Given the description of an element on the screen output the (x, y) to click on. 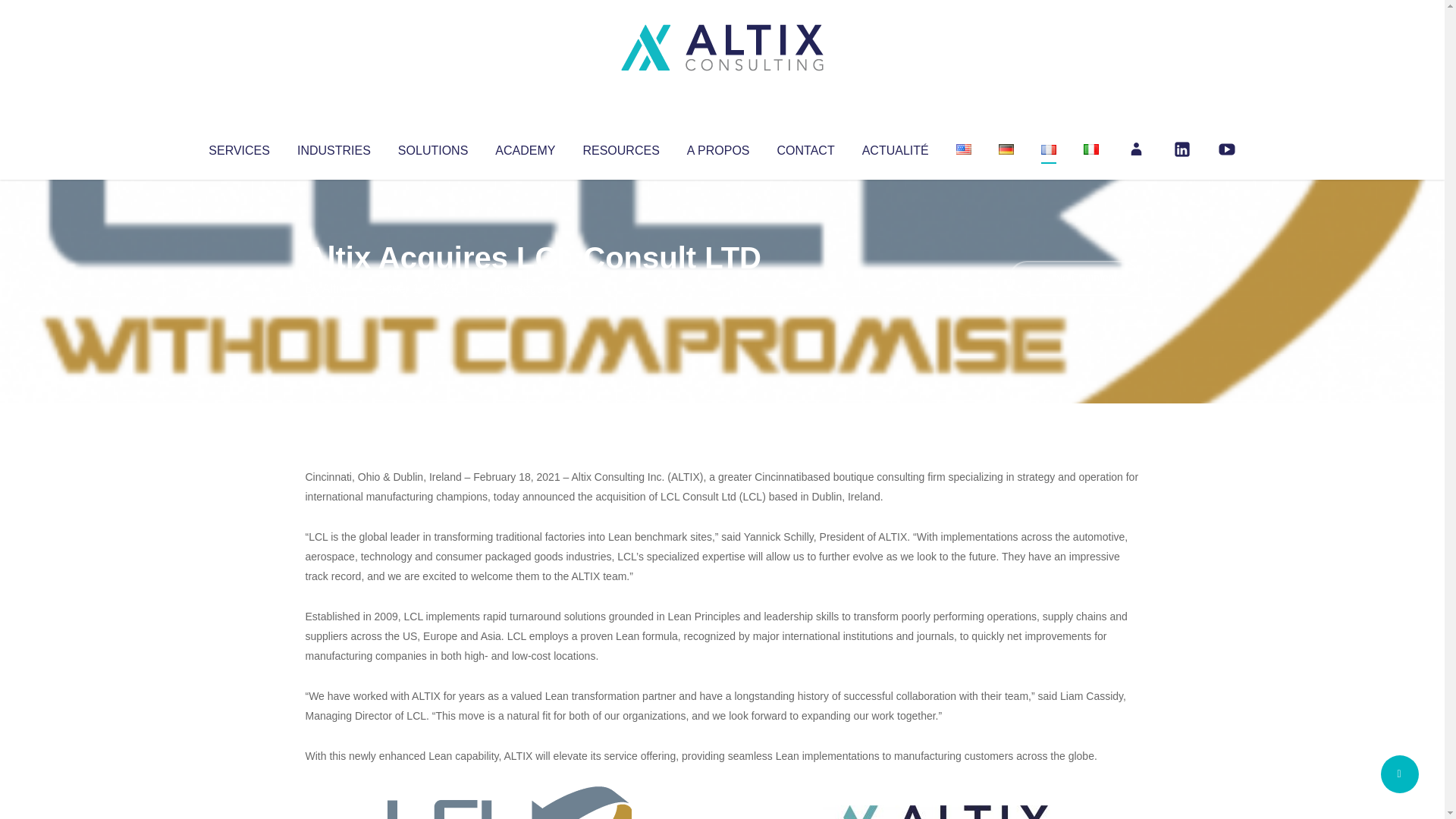
SERVICES (238, 146)
Altix (333, 287)
SOLUTIONS (432, 146)
INDUSTRIES (334, 146)
No Comments (1073, 278)
Uncategorized (530, 287)
ACADEMY (524, 146)
A PROPOS (718, 146)
RESOURCES (620, 146)
Articles par Altix (333, 287)
